Given the description of an element on the screen output the (x, y) to click on. 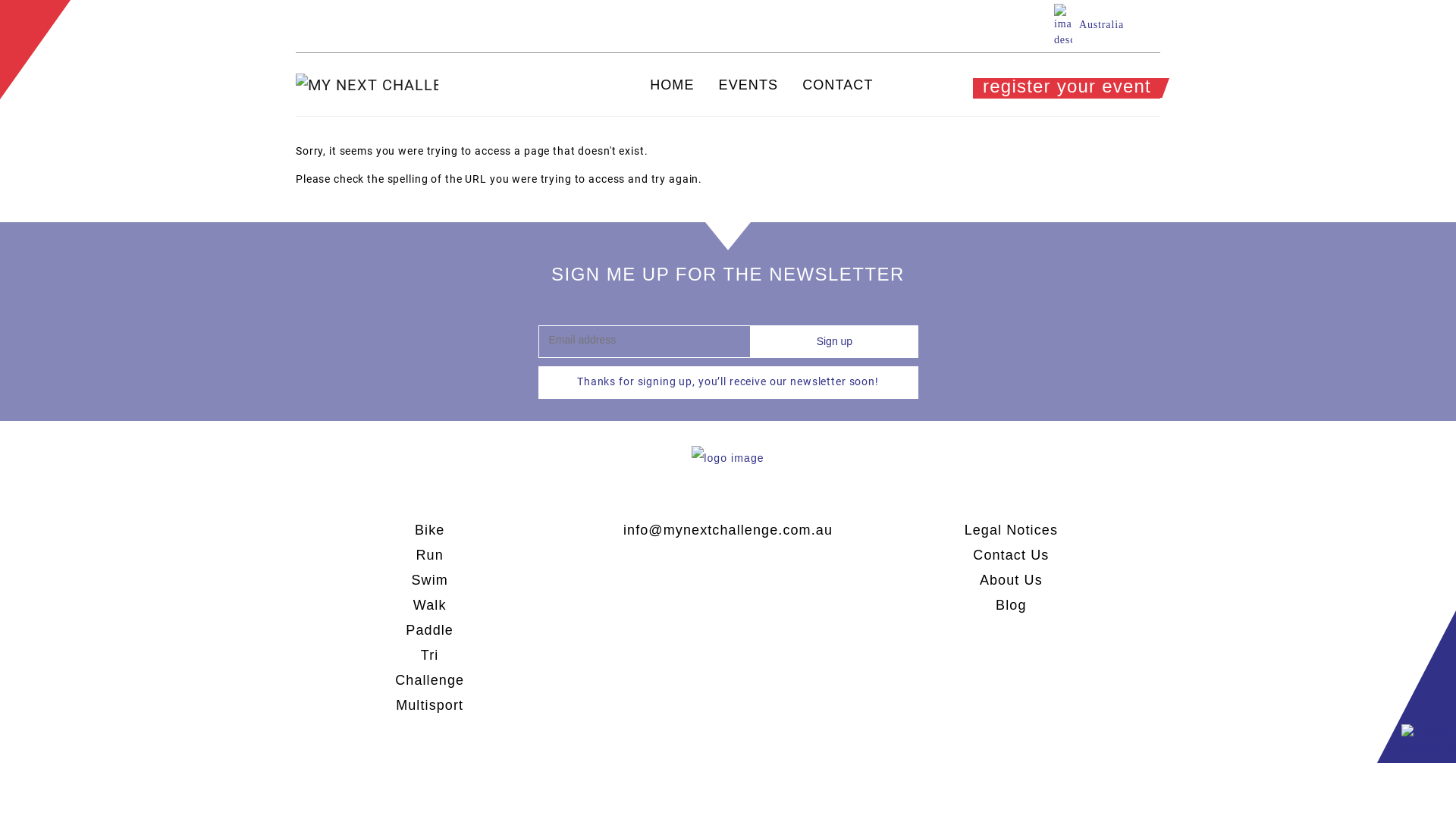
HOME Element type: text (671, 86)
Contact Us Element type: text (1010, 554)
Australia Element type: text (1088, 24)
Walk Element type: text (429, 605)
CONTACT Element type: text (837, 86)
About Us Element type: text (1010, 579)
register your event Element type: text (1066, 88)
Run Element type: text (428, 554)
Multisport Element type: text (429, 705)
Challenge Element type: text (429, 680)
Legal Notices Element type: text (1010, 529)
Blog Element type: text (1010, 605)
EVENTS Element type: text (748, 86)
Bike Element type: text (429, 529)
Sign up Element type: text (833, 341)
Tri Element type: text (429, 655)
info@mynextchallenge.com.au Element type: text (727, 529)
Paddle Element type: text (429, 630)
Swim Element type: text (429, 579)
